Given the description of an element on the screen output the (x, y) to click on. 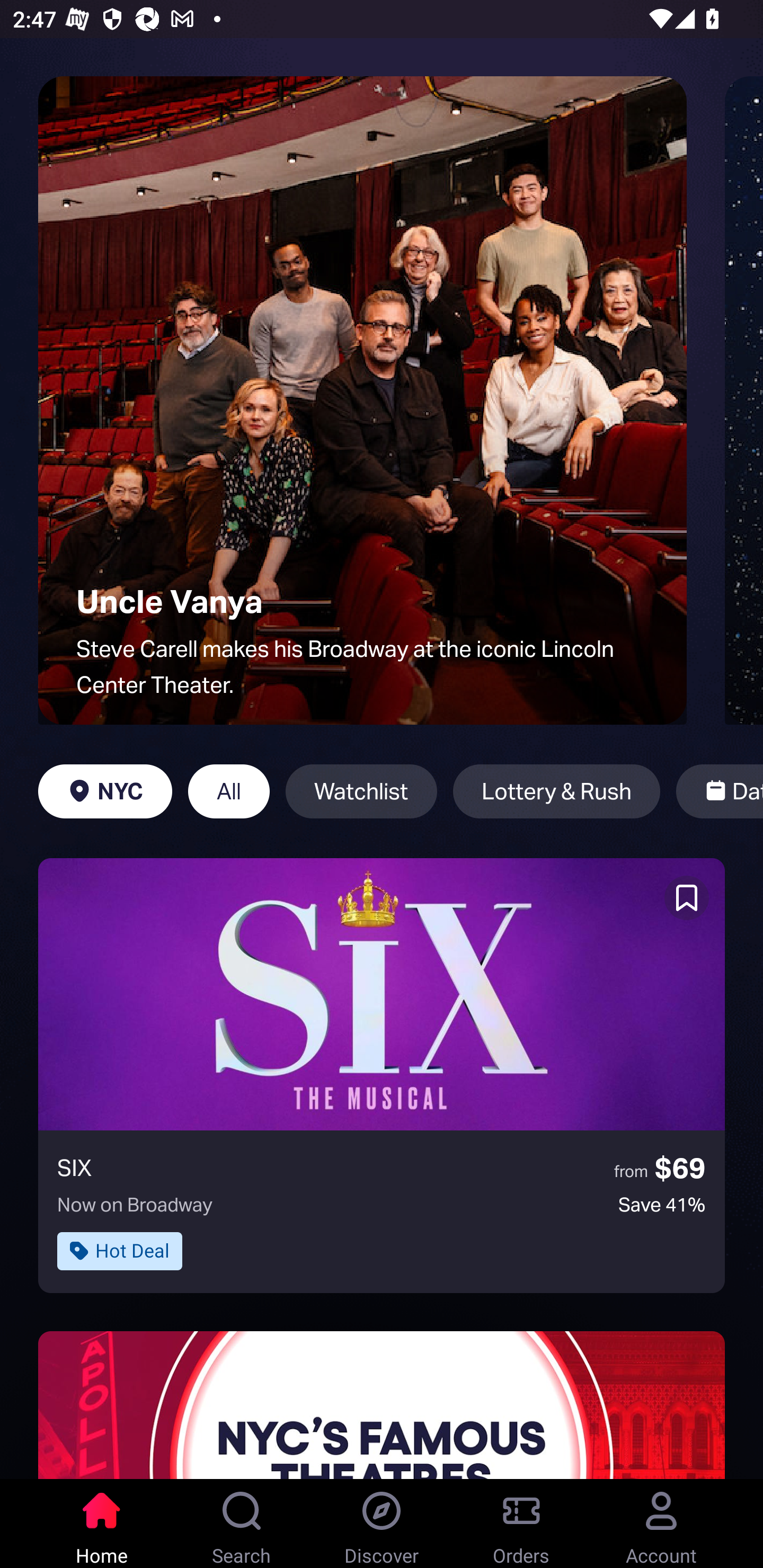
NYC (105, 791)
All (228, 791)
Watchlist (361, 791)
Lottery & Rush (556, 791)
Date (719, 791)
SIX from $69 Now on Broadway Save 41% Hot Deal (381, 1075)
Search (241, 1523)
Discover (381, 1523)
Orders (521, 1523)
Account (660, 1523)
